Given the description of an element on the screen output the (x, y) to click on. 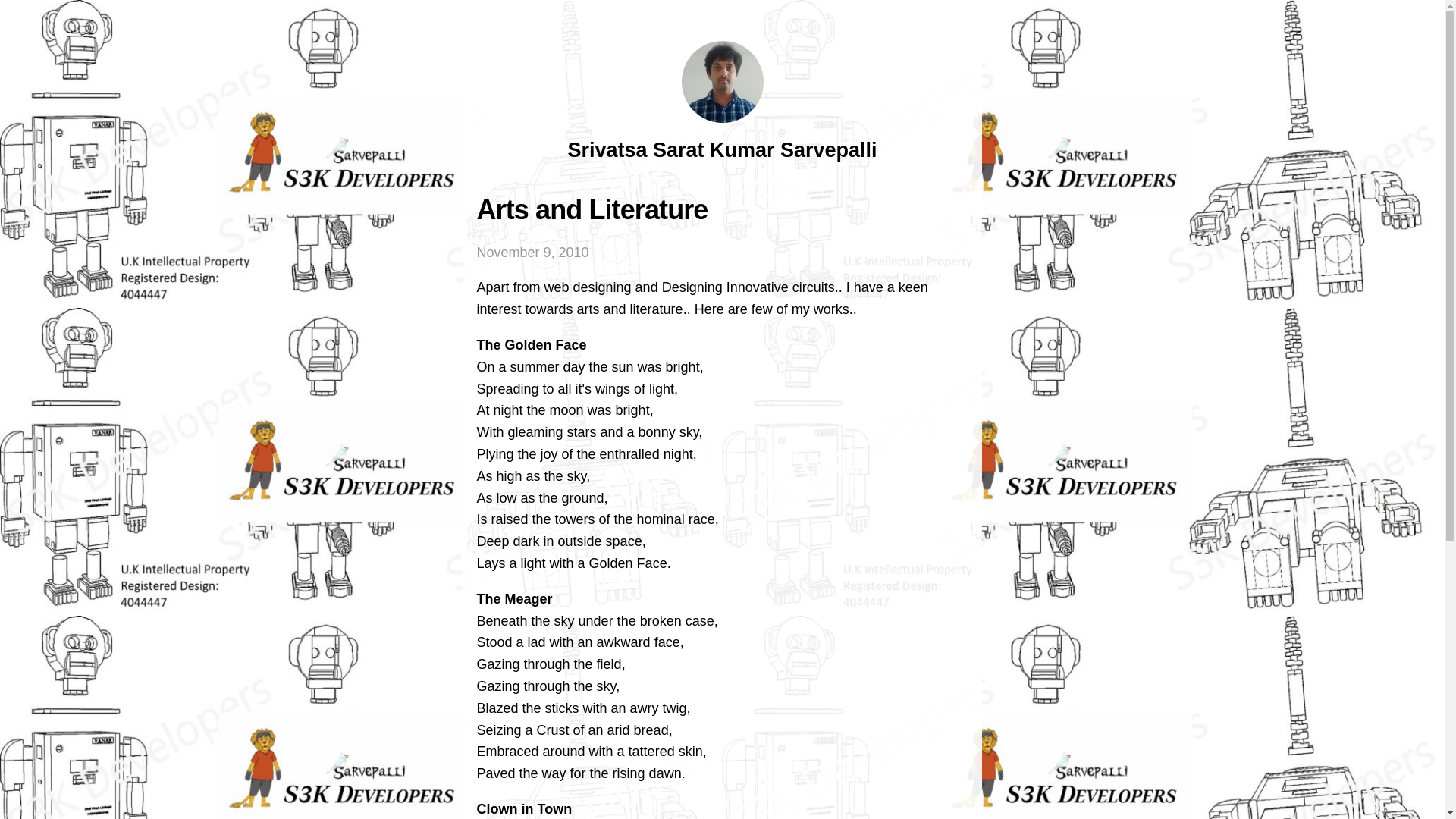
Srivatsa Sarat Kumar Sarvepalli (721, 149)
